Given the description of an element on the screen output the (x, y) to click on. 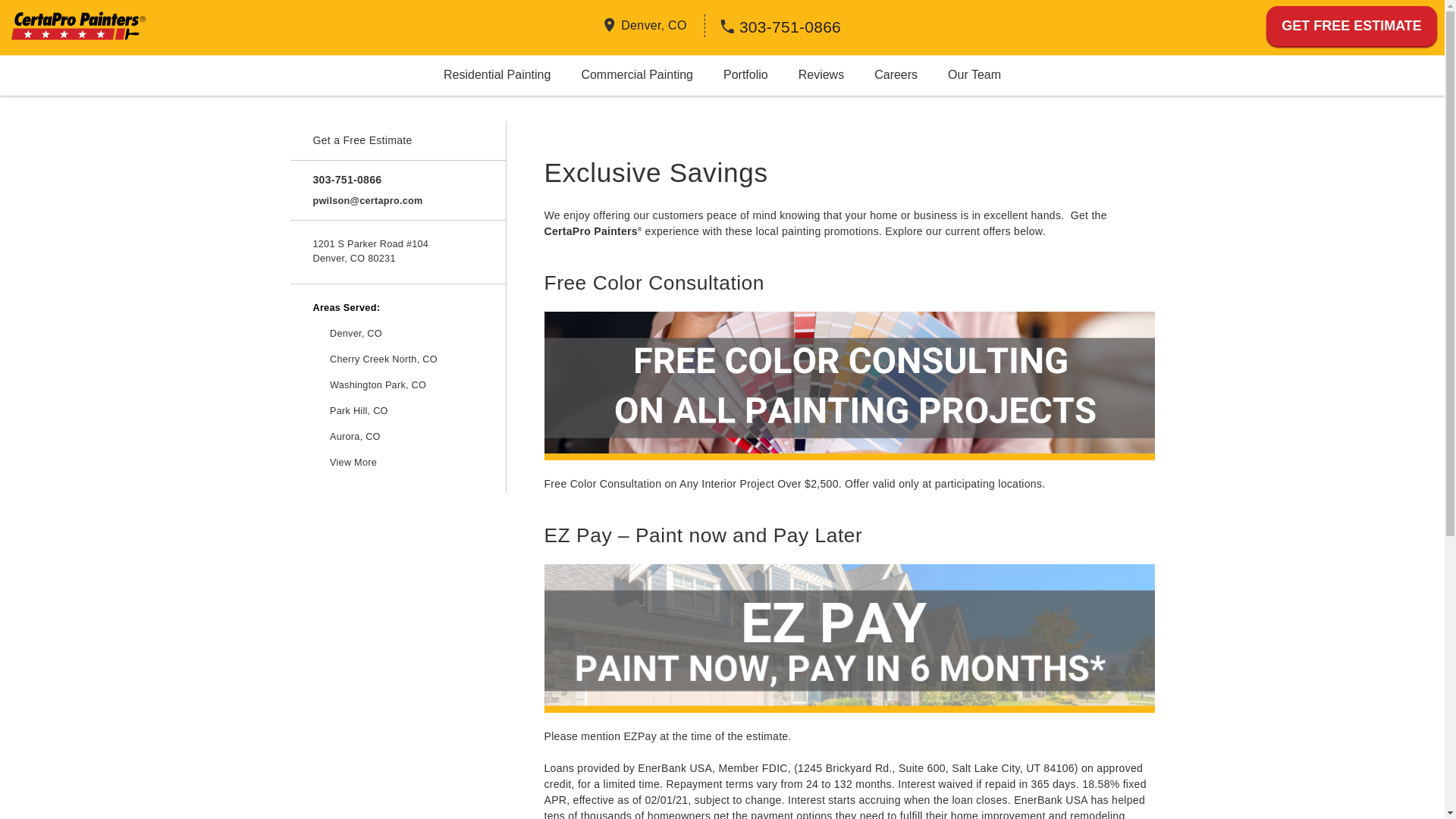
Portfolio (745, 74)
Careers (896, 74)
Denver, CO (653, 24)
Our Team (974, 74)
Commercial Painting (636, 74)
GET FREE ESTIMATE (1351, 25)
Residential Painting (497, 74)
Reviews (821, 74)
